Given the description of an element on the screen output the (x, y) to click on. 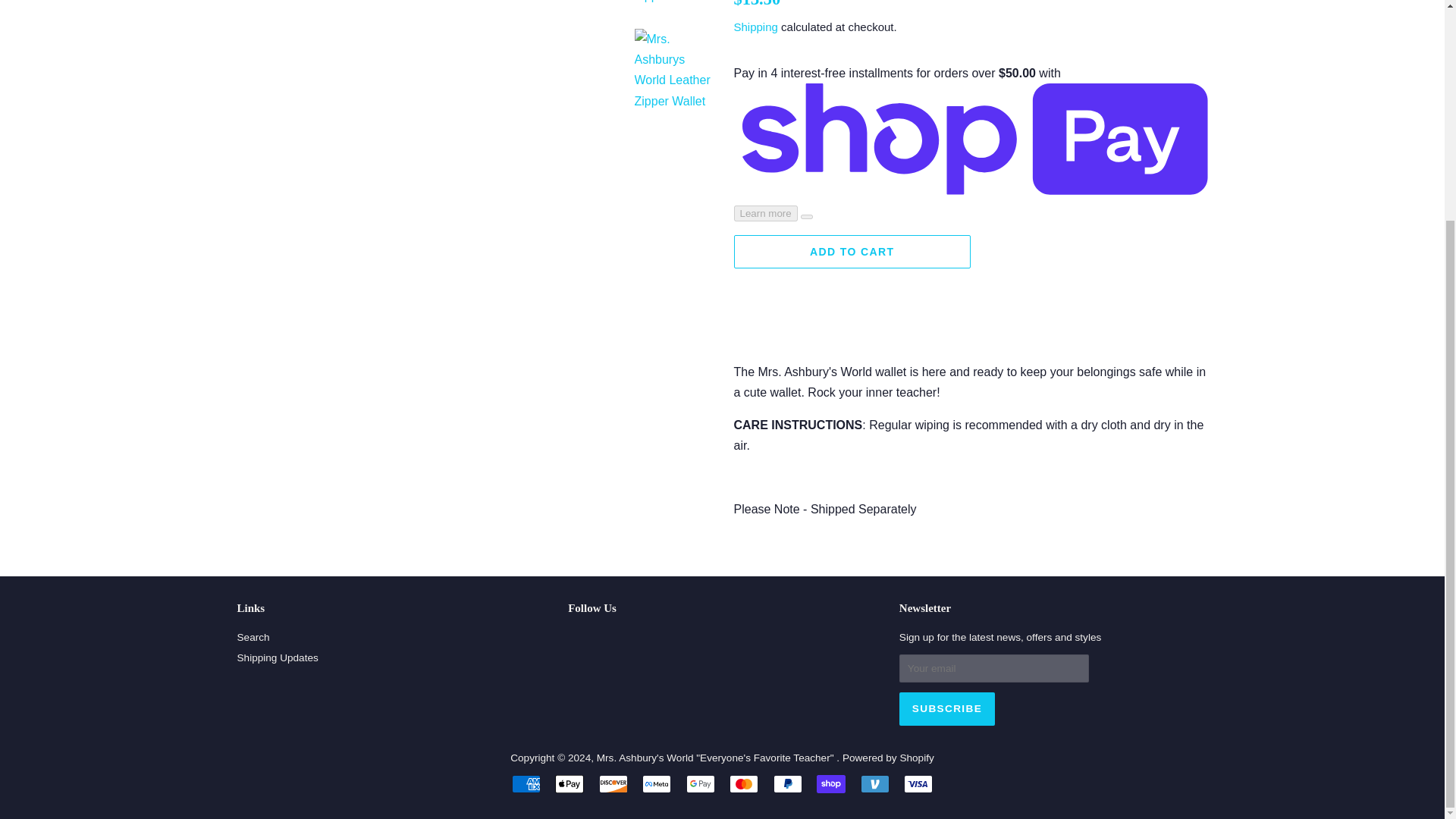
Discover (612, 783)
Apple Pay (568, 783)
Meta Pay (656, 783)
PayPal (787, 783)
Subscribe (946, 708)
Mastercard (743, 783)
American Express (526, 783)
Google Pay (699, 783)
Visa (918, 783)
Shop Pay (830, 783)
Venmo (874, 783)
